Given the description of an element on the screen output the (x, y) to click on. 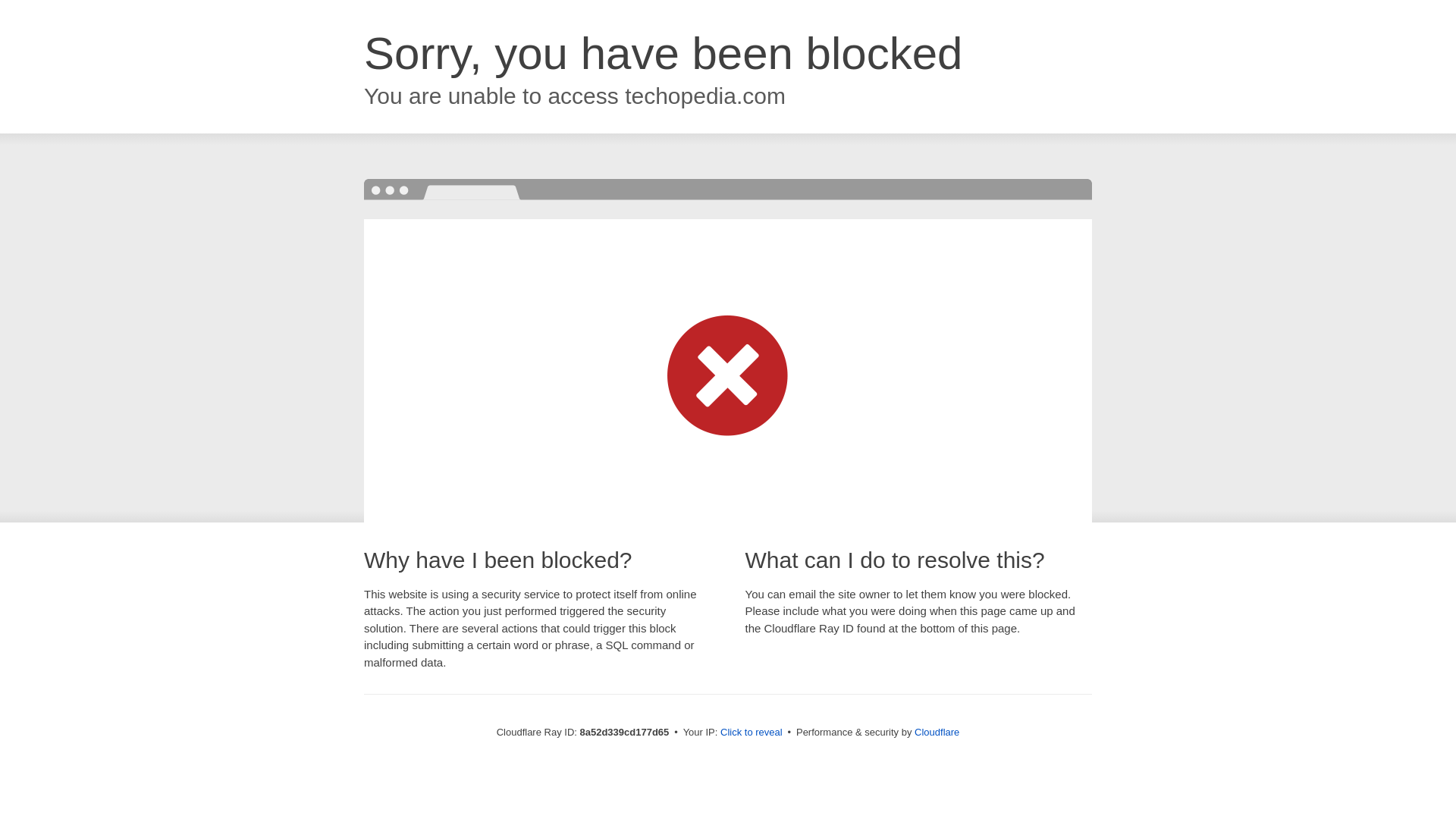
Click to reveal (751, 732)
Cloudflare (936, 731)
